Given the description of an element on the screen output the (x, y) to click on. 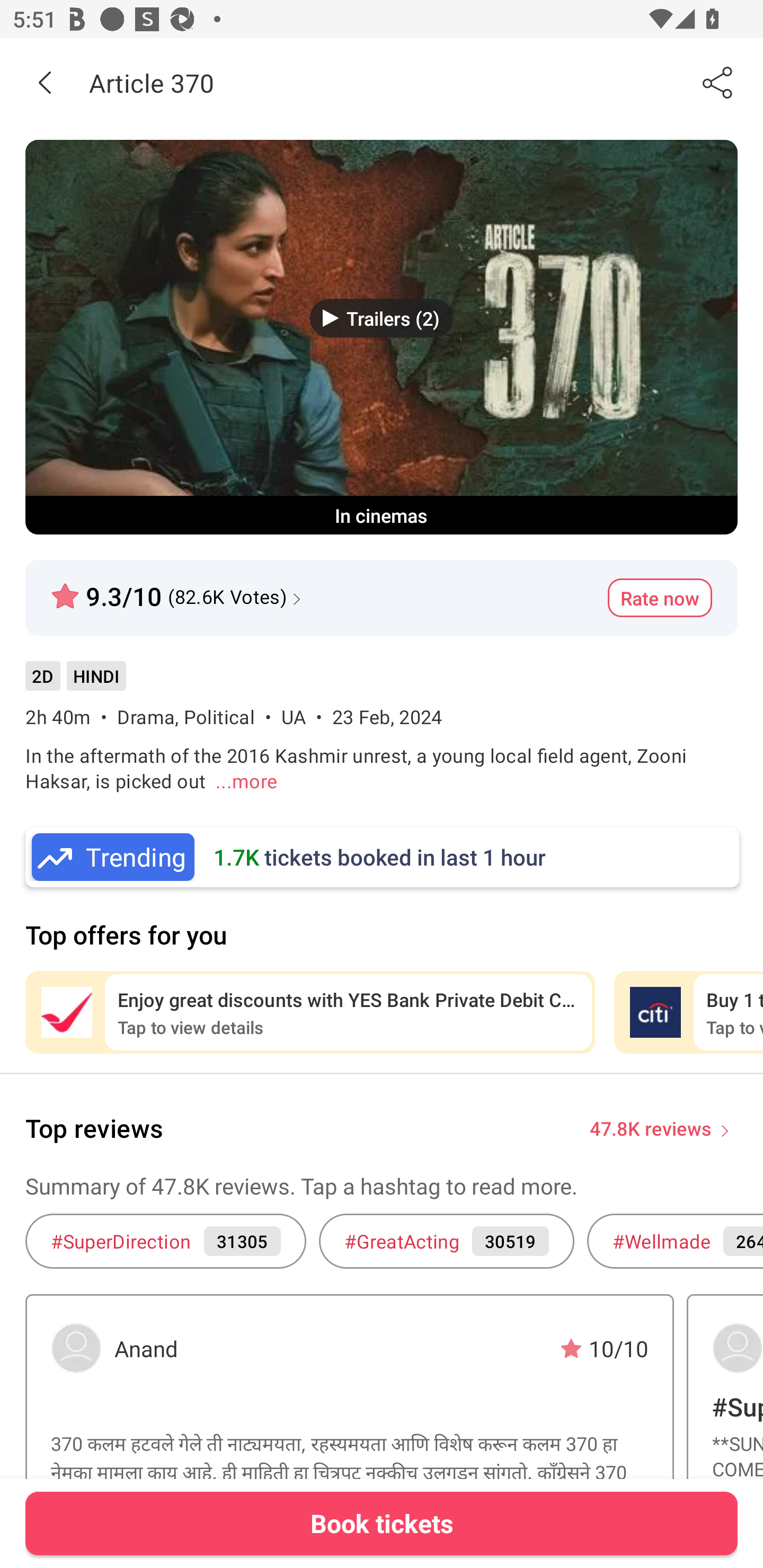
Back (44, 82)
Share (718, 82)
Movie Banner Trailers (2) In cinemas (381, 336)
Trailers (2) (381, 318)
9.3/10 (82.6K Votes) (178, 589)
Rate now (659, 597)
2D HINDI (75, 682)
47.8K reviews (650, 1127)
#SuperDirection 31305 (165, 1240)
#GreatActing 30519 (446, 1240)
#Wellmade 26434 (674, 1240)
Book tickets (381, 1523)
